Given the description of an element on the screen output the (x, y) to click on. 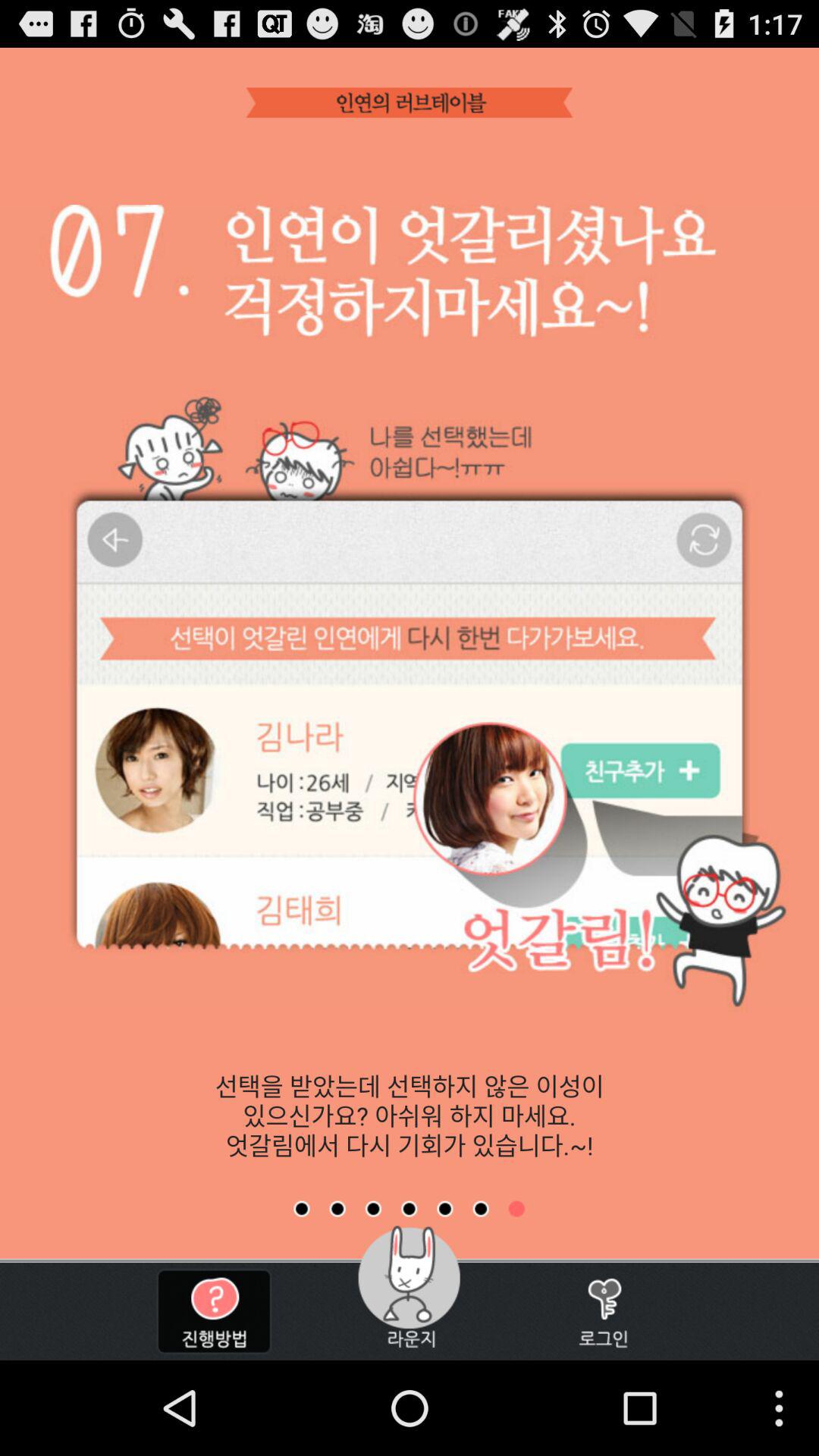
go to previous page (480, 1208)
